Given the description of an element on the screen output the (x, y) to click on. 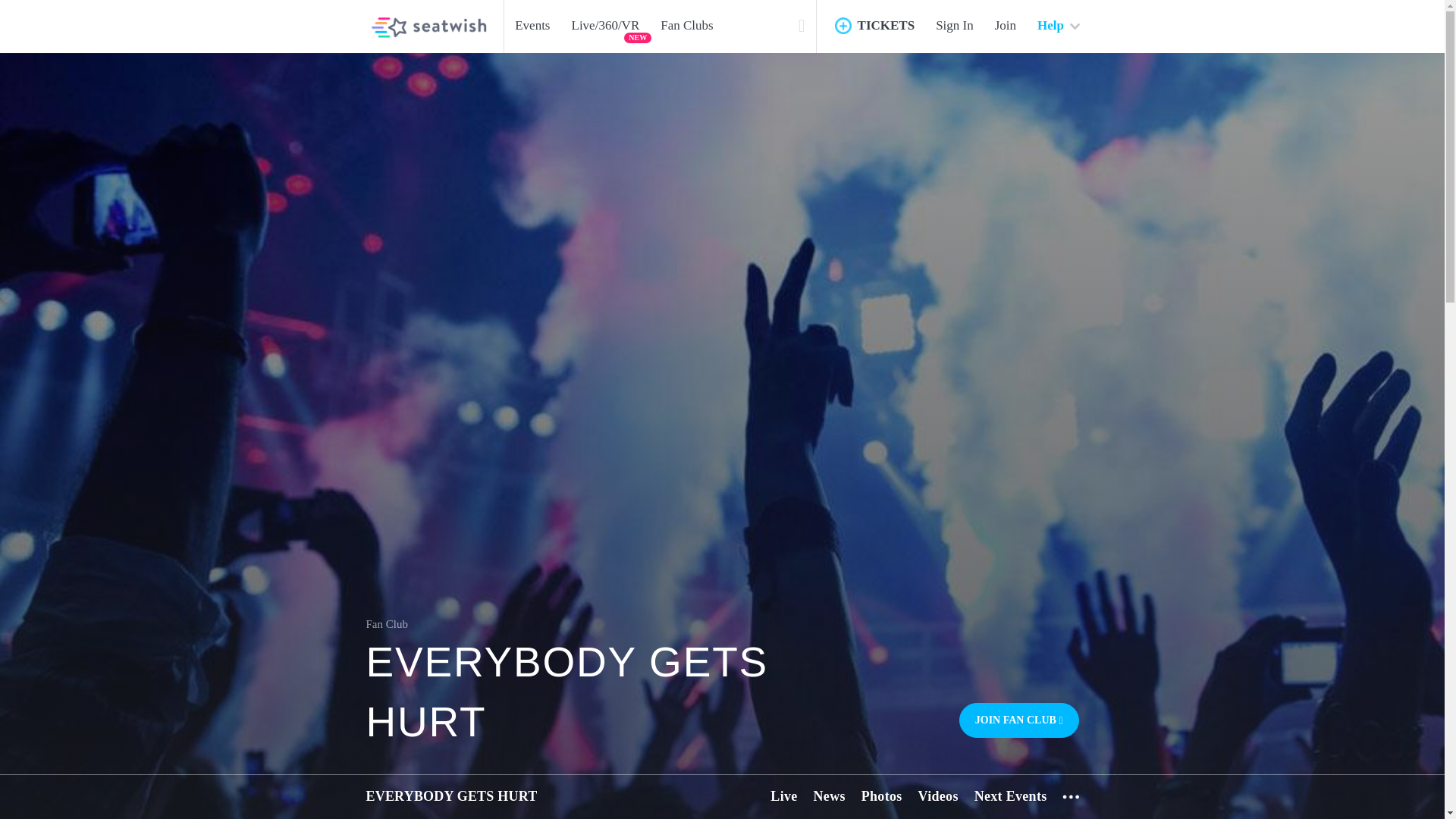
JOIN FAN CLUB (1018, 719)
News (829, 796)
EVERYBODY GETS HURT (451, 796)
Join (1005, 25)
Sign In (954, 25)
Photos (882, 796)
Help (1057, 25)
Videos (938, 796)
TICKETS (876, 25)
Next Events (1011, 796)
Live (787, 796)
EVERYBODY GETS HURT (566, 691)
Fan Clubs (686, 25)
Events (531, 25)
